Given the description of an element on the screen output the (x, y) to click on. 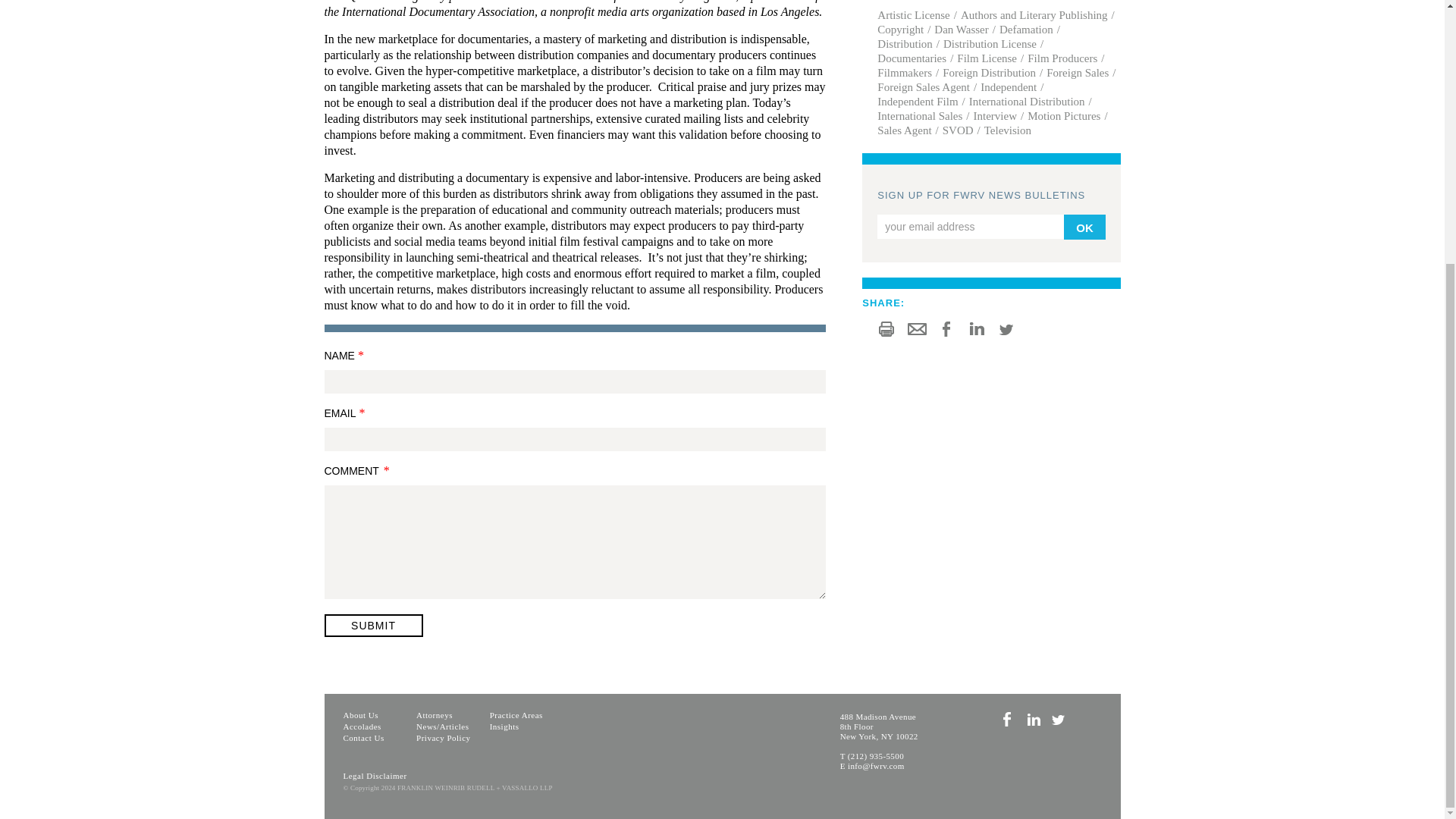
Submit (373, 625)
